Given the description of an element on the screen output the (x, y) to click on. 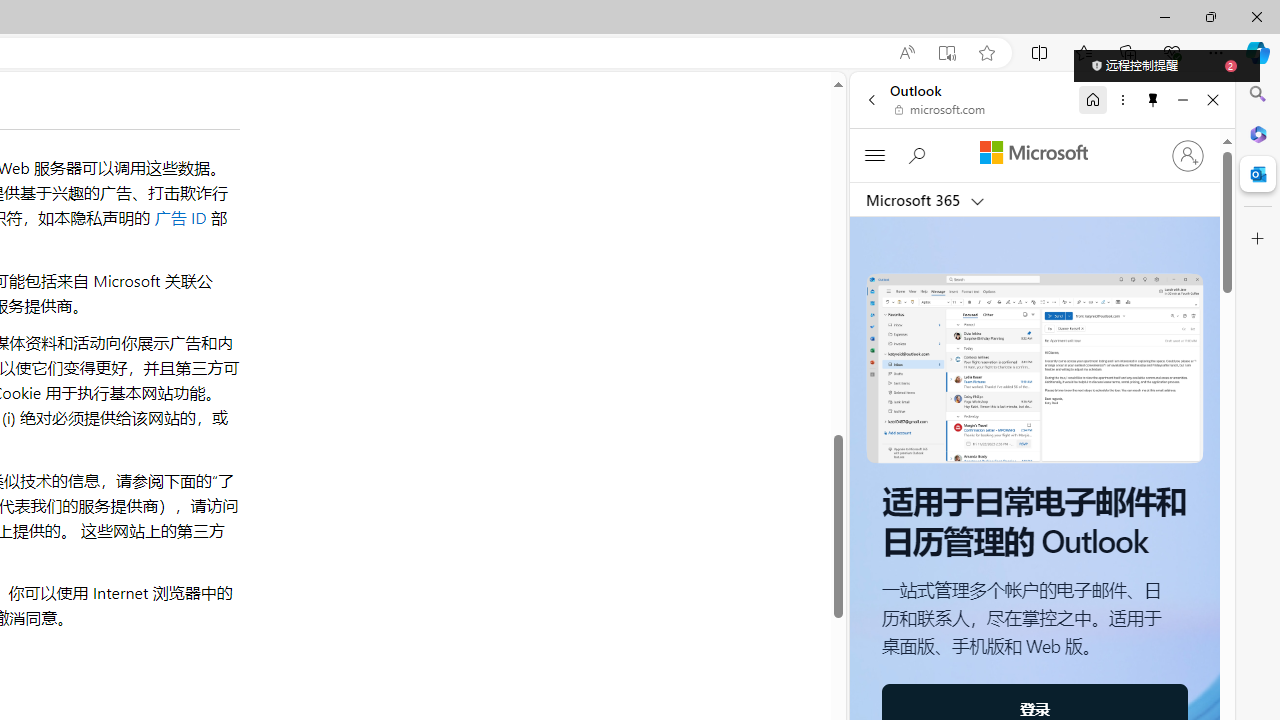
Microsoft (1033, 153)
